Given the description of an element on the screen output the (x, y) to click on. 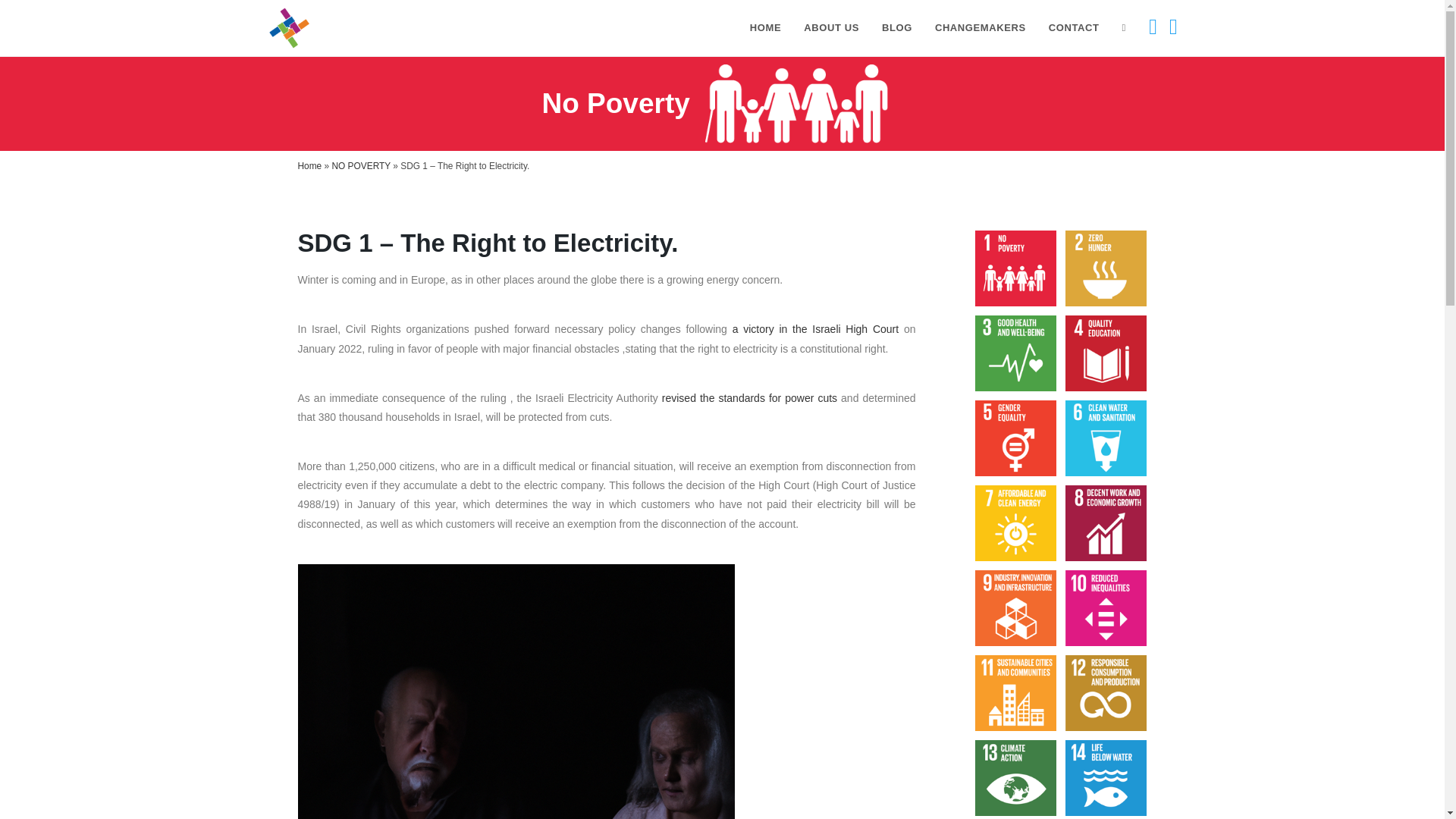
NO POVERTY (360, 165)
Home (309, 165)
BLOG (896, 28)
CONTACT (1073, 28)
HOME (765, 28)
a victory in the Israeli High Court (815, 328)
revised the standards for power cuts (749, 398)
CHANGEMAKERS (979, 28)
ABOUT US (831, 28)
